Given the description of an element on the screen output the (x, y) to click on. 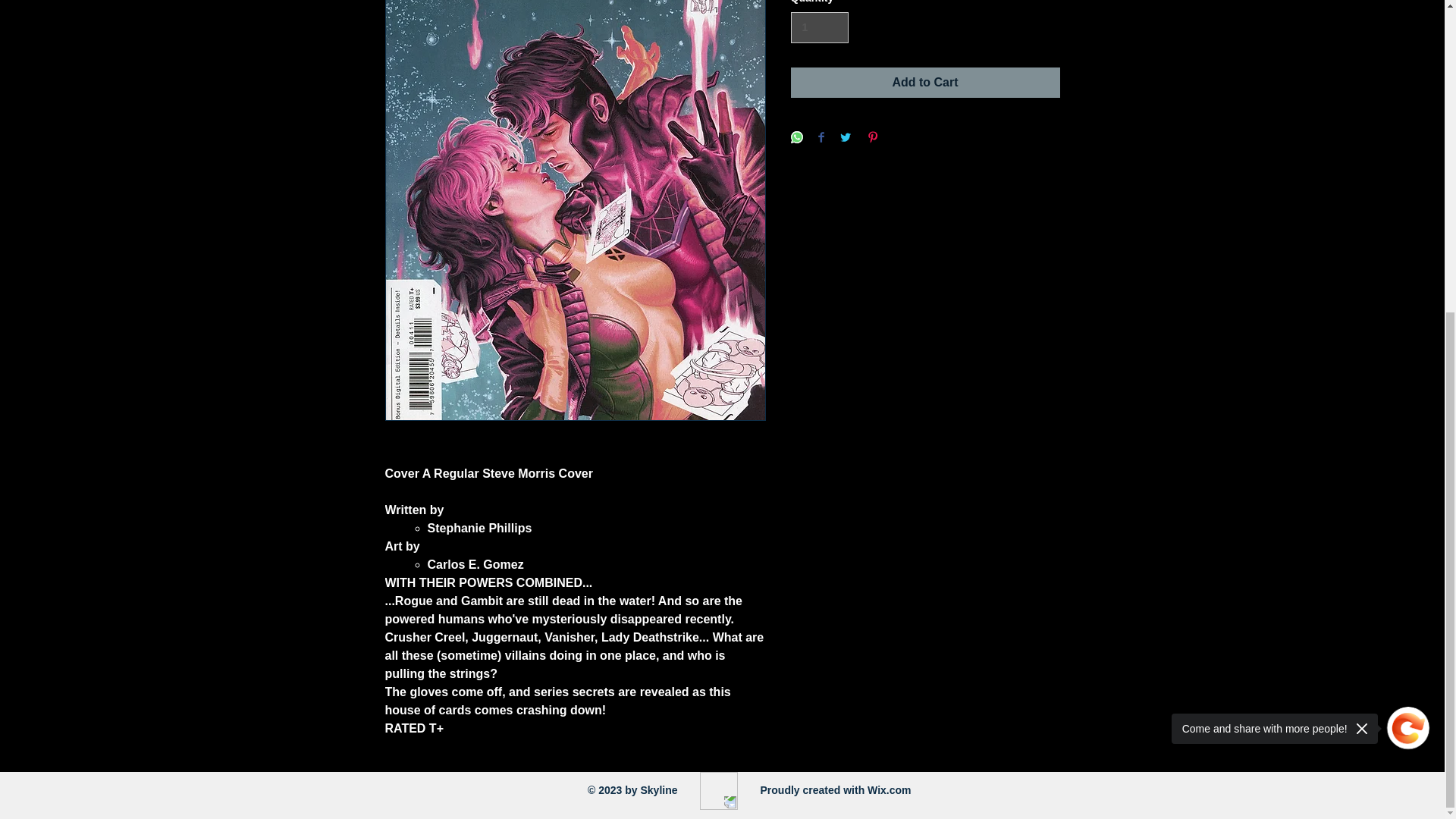
Proudly created with Wix.com (835, 789)
Add to Cart (924, 82)
1 (818, 27)
